Given the description of an element on the screen output the (x, y) to click on. 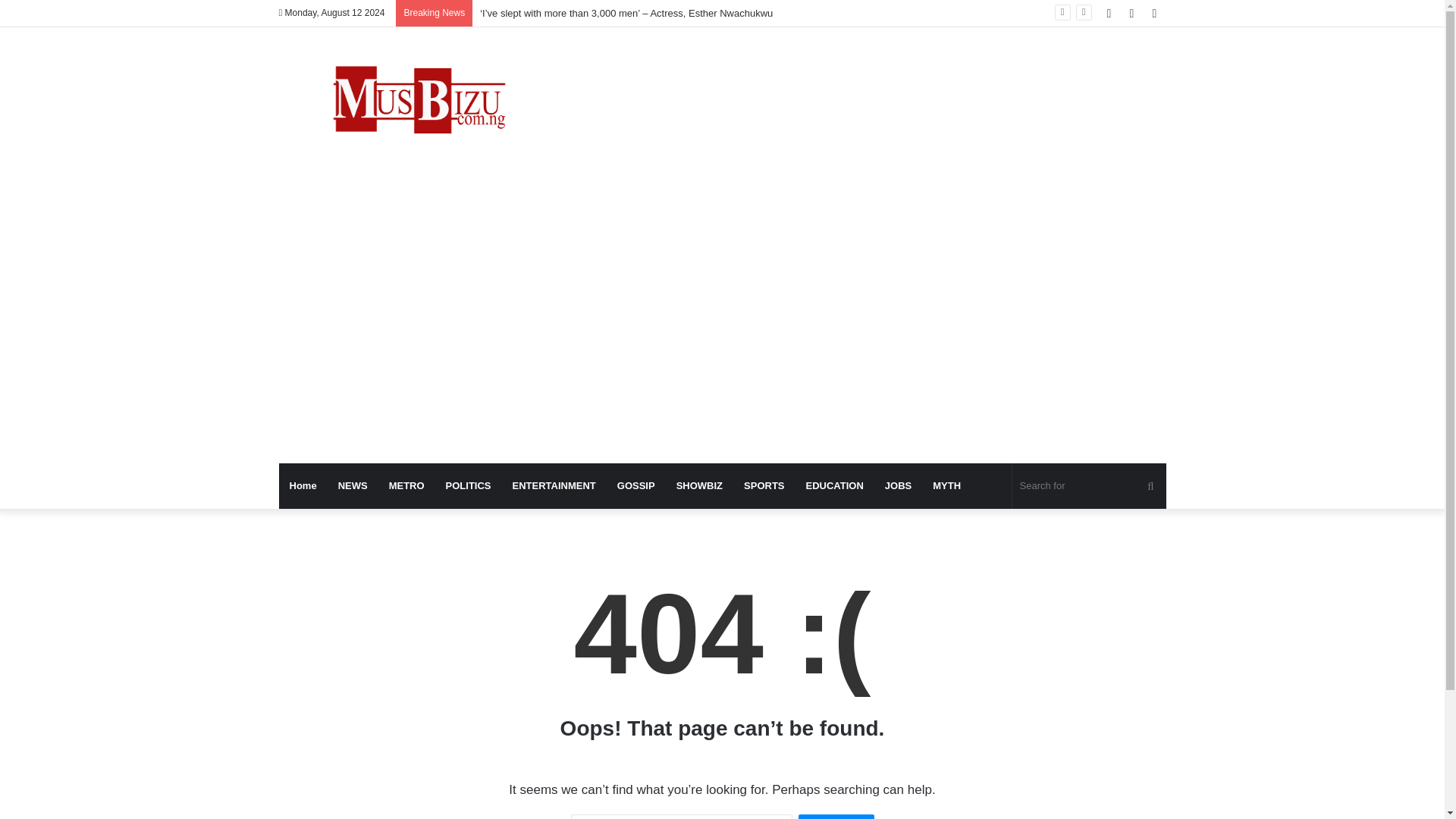
NEWS (352, 485)
METRO (406, 485)
ENTERTAINMENT (554, 485)
JOBS (898, 485)
GOSSIP (636, 485)
Search (835, 816)
Musbizu (419, 103)
Search (835, 816)
EDUCATION (834, 485)
Search for (1088, 485)
